Given the description of an element on the screen output the (x, y) to click on. 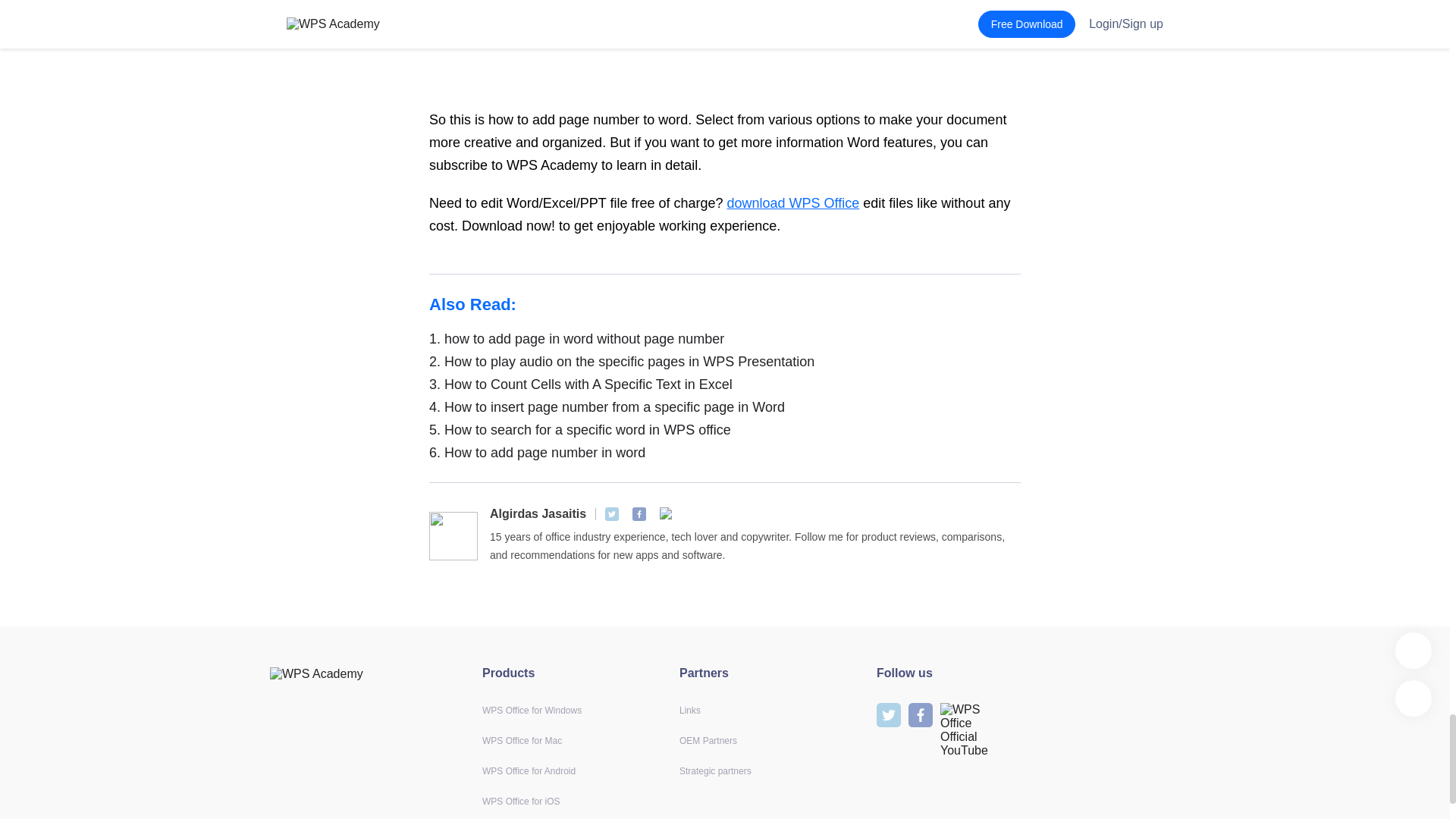
WPS Office for Windows (530, 710)
WPS Office for Android (528, 770)
WPS Office for Mac (521, 740)
1. how to add page in word without page number (724, 338)
Strategic partners (715, 770)
WPS Office Official Twitter (611, 513)
3. How to Count Cells with A Specific Text in Excel (724, 384)
How to search for a specific word in WPS office (724, 429)
How to Count Cells with A Specific Text in Excel (724, 384)
